Given the description of an element on the screen output the (x, y) to click on. 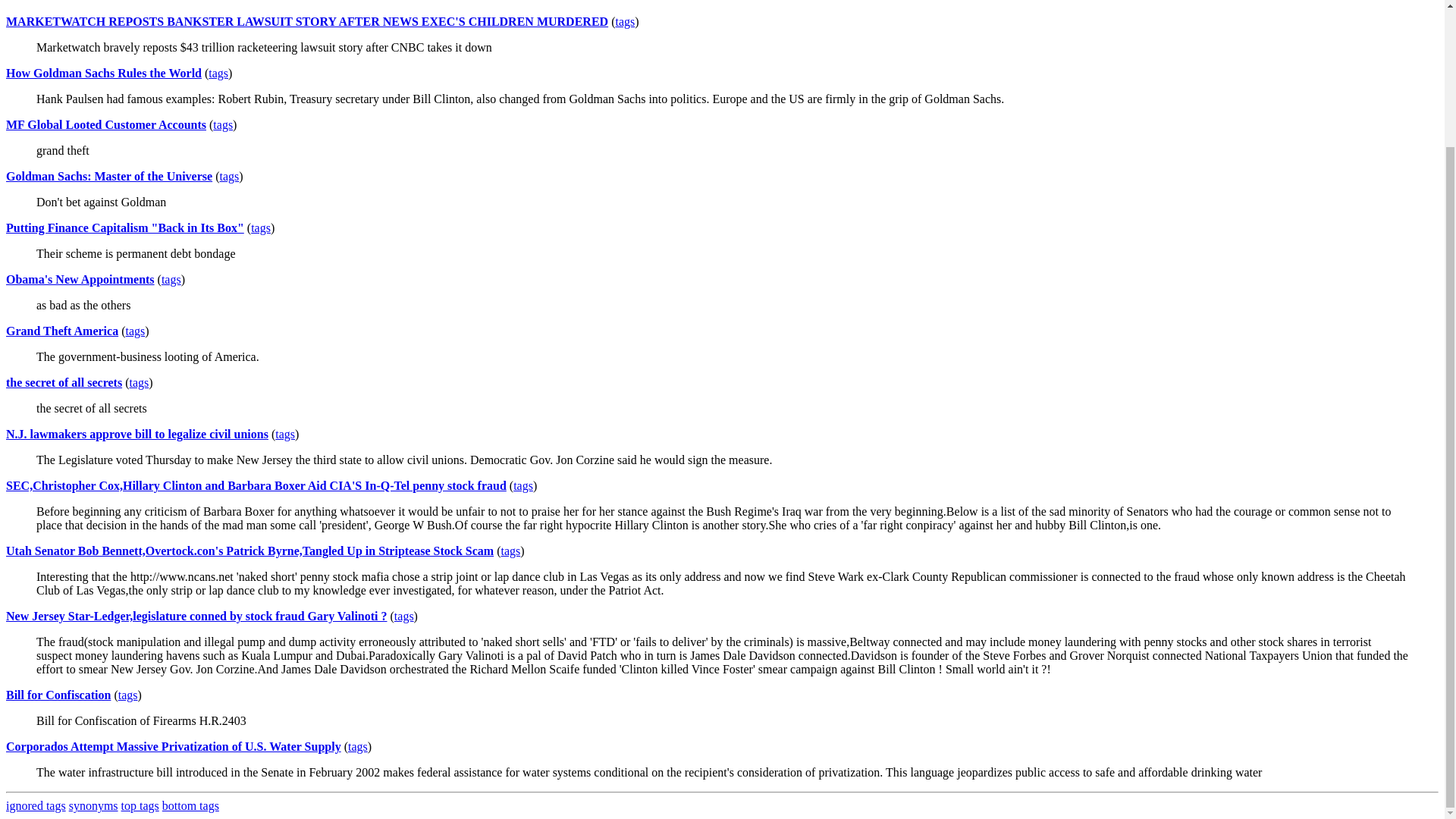
ignored tags (35, 805)
tags (134, 330)
MF Global Looted Customer Accounts (105, 124)
N.J. lawmakers approve bill to legalize civil unions (136, 433)
Bill for Confiscation (57, 694)
bottom tags (190, 805)
synonyms (92, 805)
tags (127, 694)
top tags (139, 805)
Obama's New Appointments (79, 278)
Putting Finance Capitalism "Back in Its Box" (124, 227)
tags (228, 175)
